Given the description of an element on the screen output the (x, y) to click on. 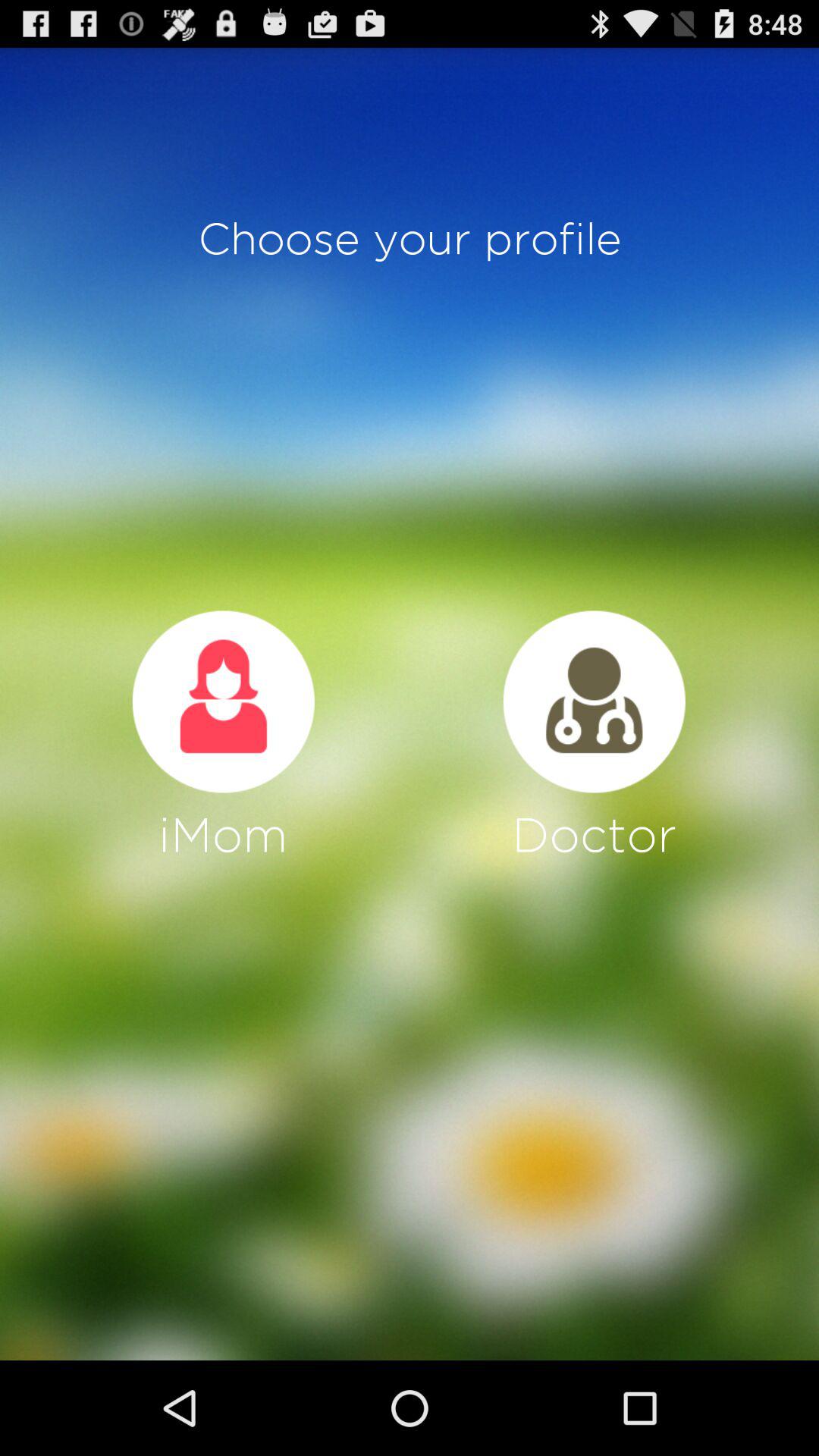
choose profile to be mother (223, 701)
